Given the description of an element on the screen output the (x, y) to click on. 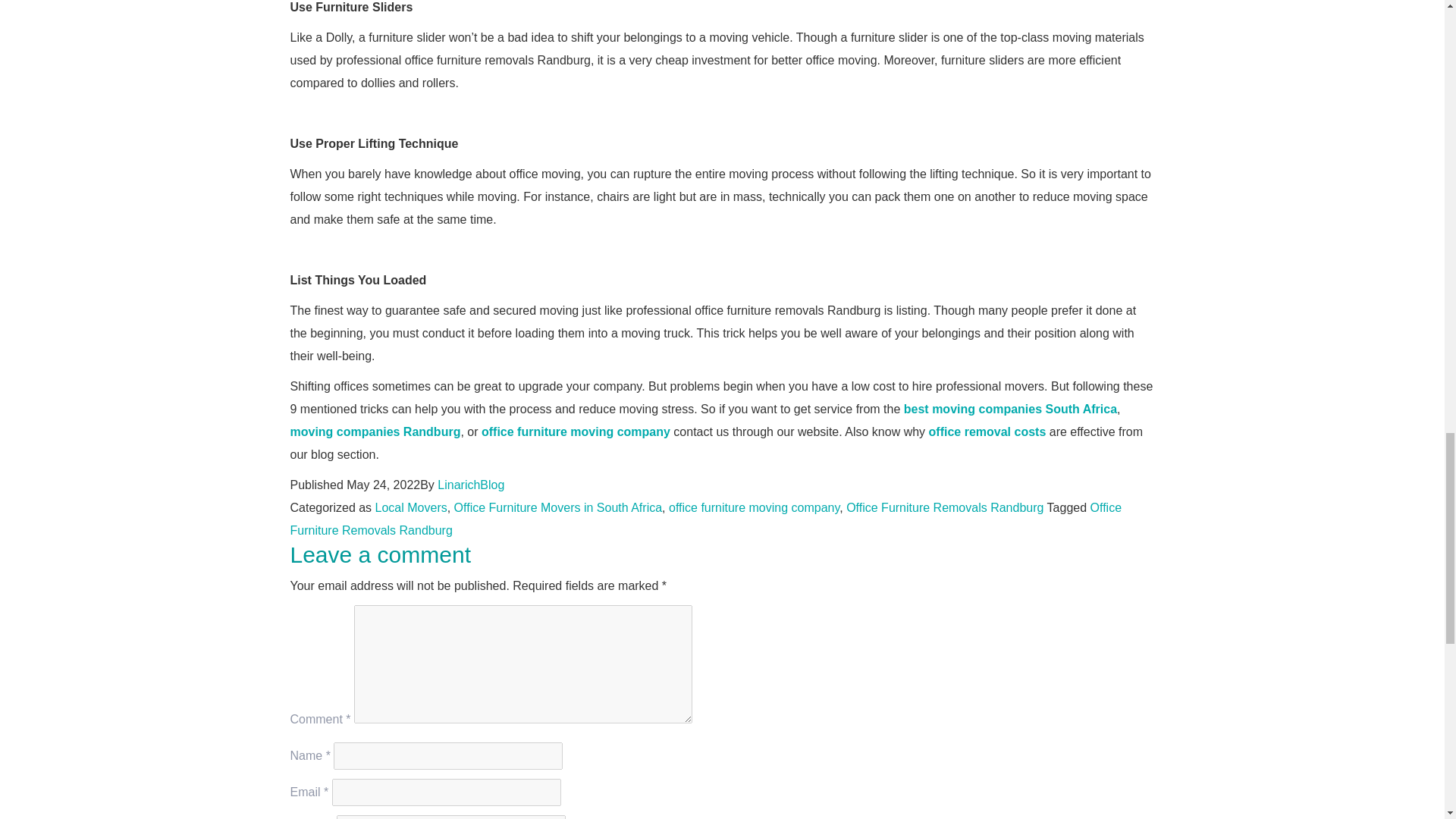
moving companies Randburg (374, 431)
Office Furniture Removals Randburg (705, 519)
office furniture moving company (575, 431)
office removal costs (987, 431)
LinarichBlog (470, 484)
office furniture moving company (754, 507)
Office Furniture Removals Randburg (944, 507)
Local Movers (410, 507)
Office Furniture Movers in South Africa (558, 507)
best moving companies South Africa (1010, 408)
